Given the description of an element on the screen output the (x, y) to click on. 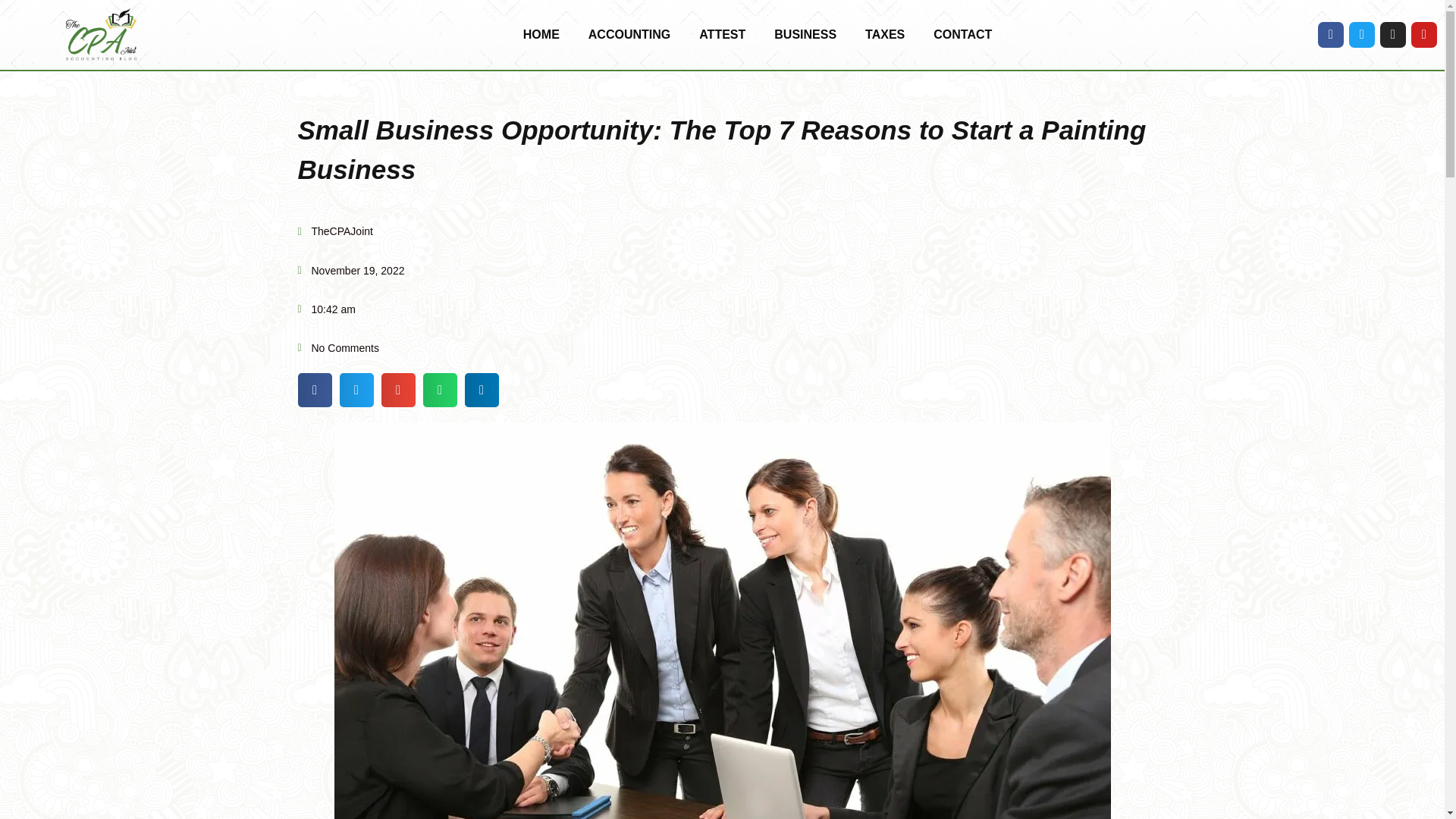
No Comments (337, 348)
ATTEST (721, 34)
TheCPAJoint (334, 230)
ACCOUNTING (628, 34)
BUSINESS (804, 34)
CONTACT (962, 34)
TAXES (884, 34)
November 19, 2022 (350, 270)
HOME (540, 34)
